Given the description of an element on the screen output the (x, y) to click on. 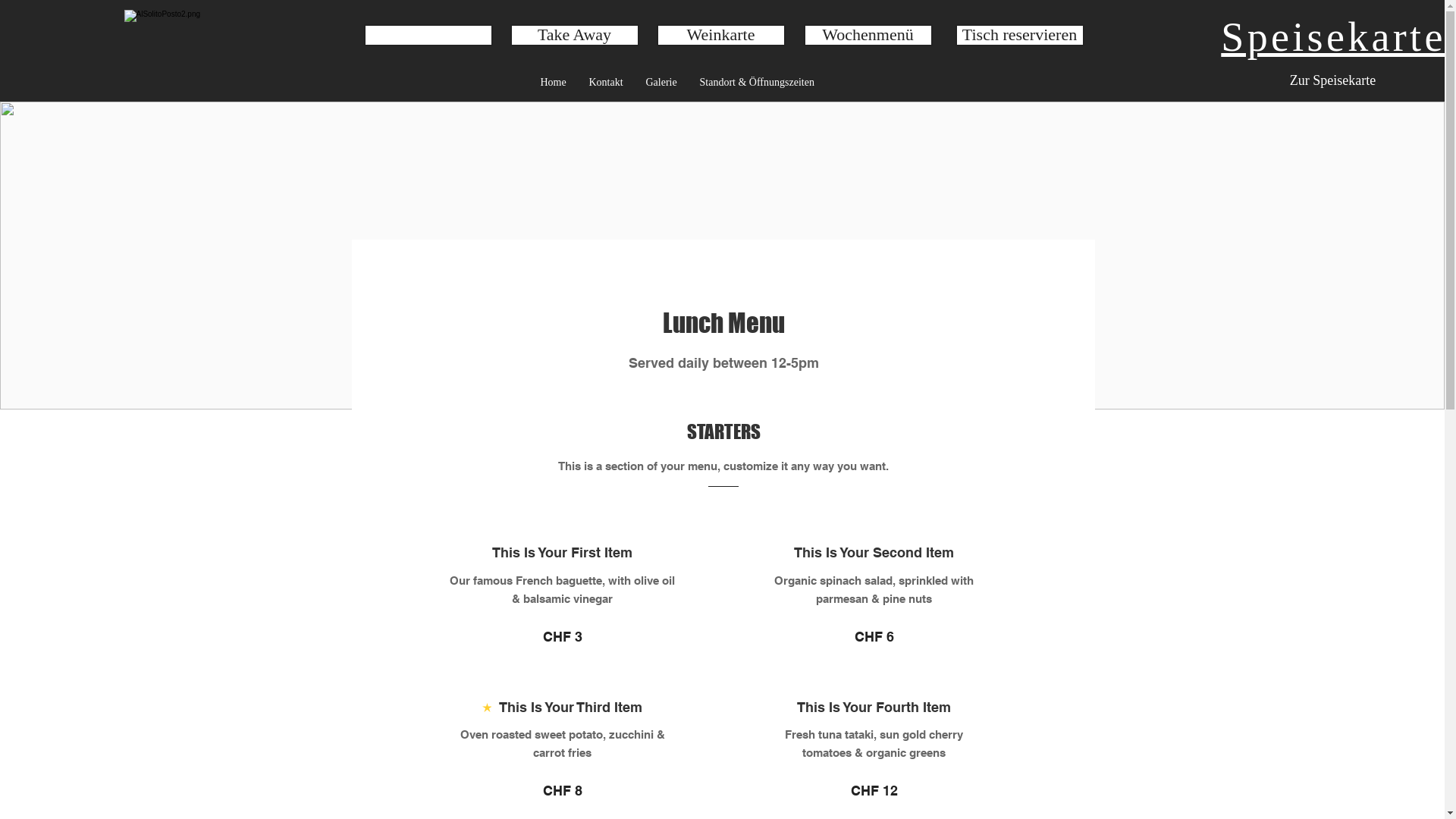
Tisch reservieren Element type: text (1019, 35)
Home Element type: text (553, 82)
Speisekarte Element type: text (1332, 34)
Weinkarte Element type: text (720, 35)
Zur Speisekarte Element type: text (1331, 80)
Galerie Element type: text (660, 82)
Kontakt Element type: text (605, 82)
Take Away Element type: text (573, 35)
